Given the description of an element on the screen output the (x, y) to click on. 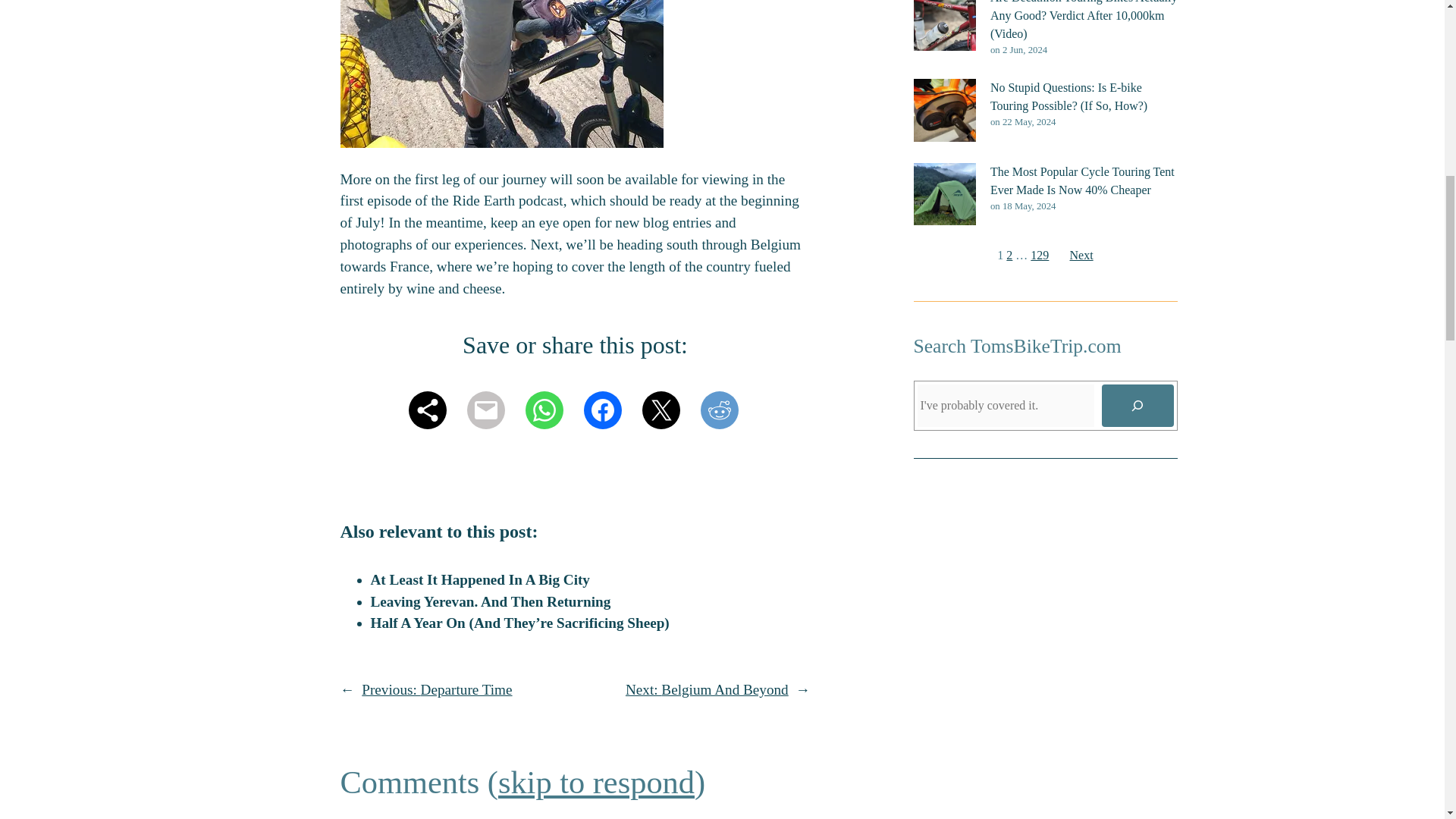
Leaving Yerevan. And Then Returning (489, 601)
